Given the description of an element on the screen output the (x, y) to click on. 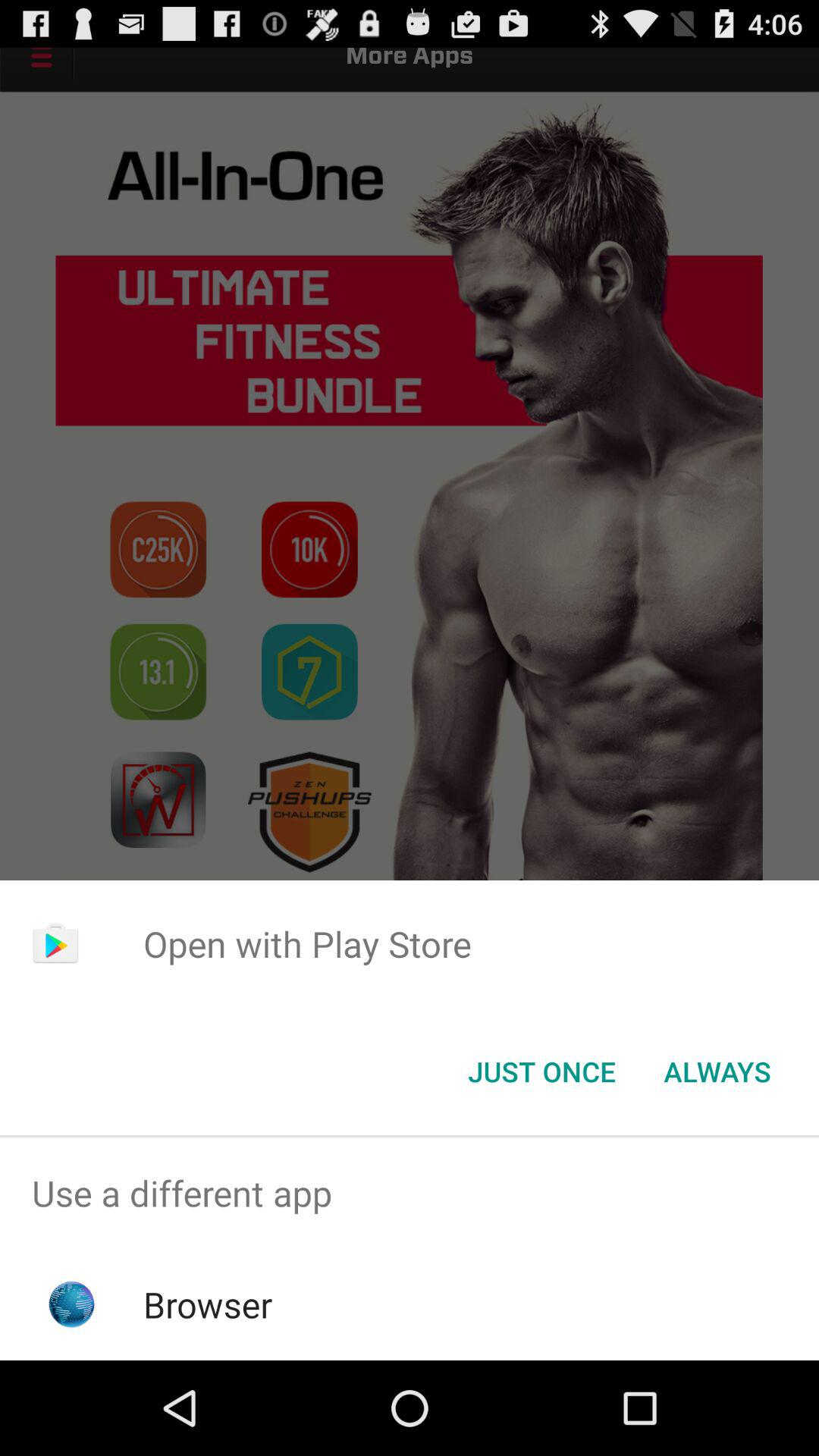
turn on the icon below the open with play item (717, 1071)
